Given the description of an element on the screen output the (x, y) to click on. 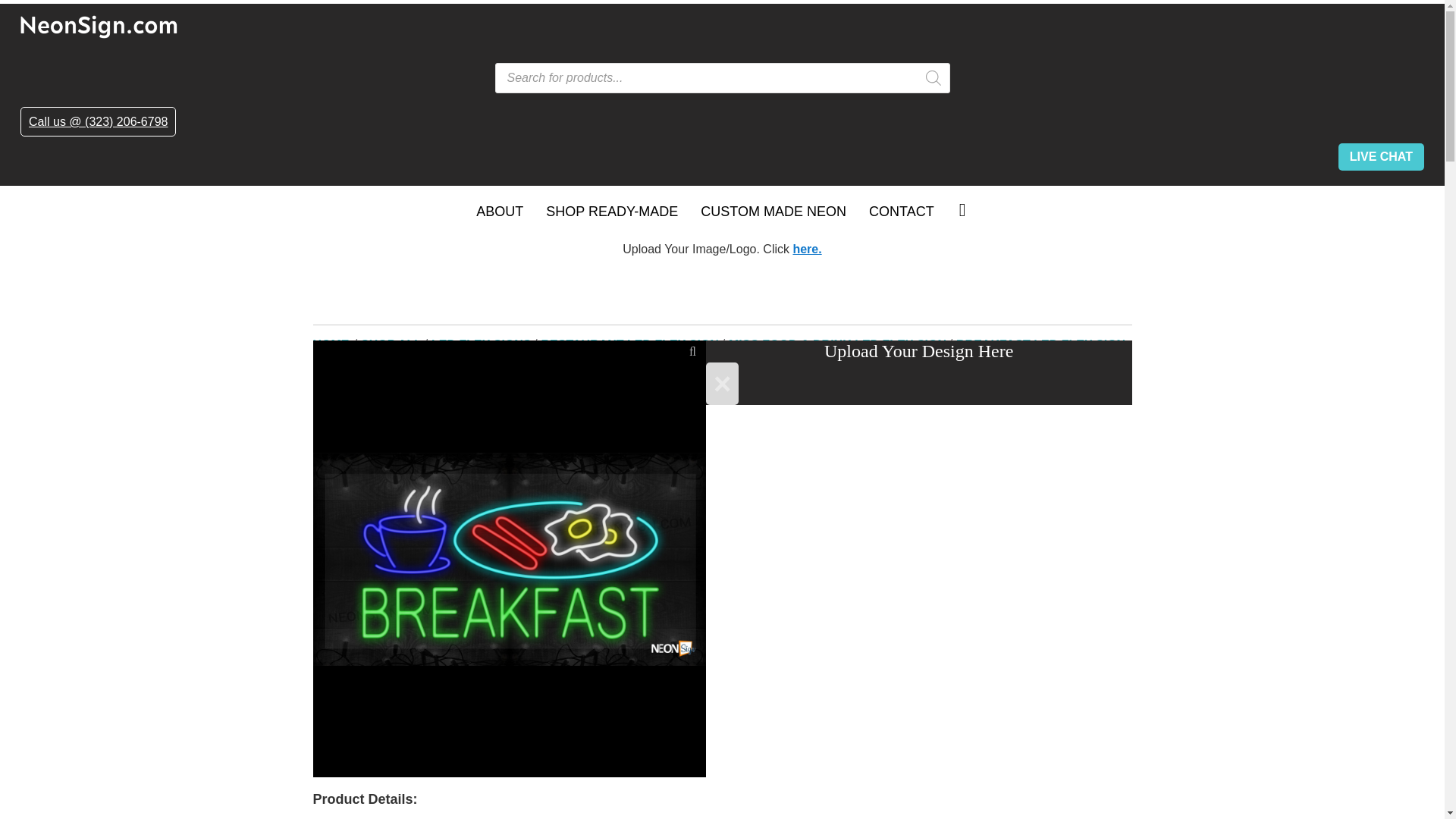
SHOP READY-MADE (611, 211)
SHOP ALL (392, 344)
NeonSign.com (721, 26)
RESTAURANT LED FLEX SIGN (630, 344)
HOME  (332, 344)
Cart Link (961, 209)
Free Quote (806, 248)
CONTACT (900, 211)
LED FLEX SIGNS (481, 344)
ABOUT (499, 211)
LIVE CHAT (1380, 156)
CUSTOM MADE NEON (772, 211)
here. (806, 248)
BREAKFAST LED FLEX SIGN (1041, 344)
